Given the description of an element on the screen output the (x, y) to click on. 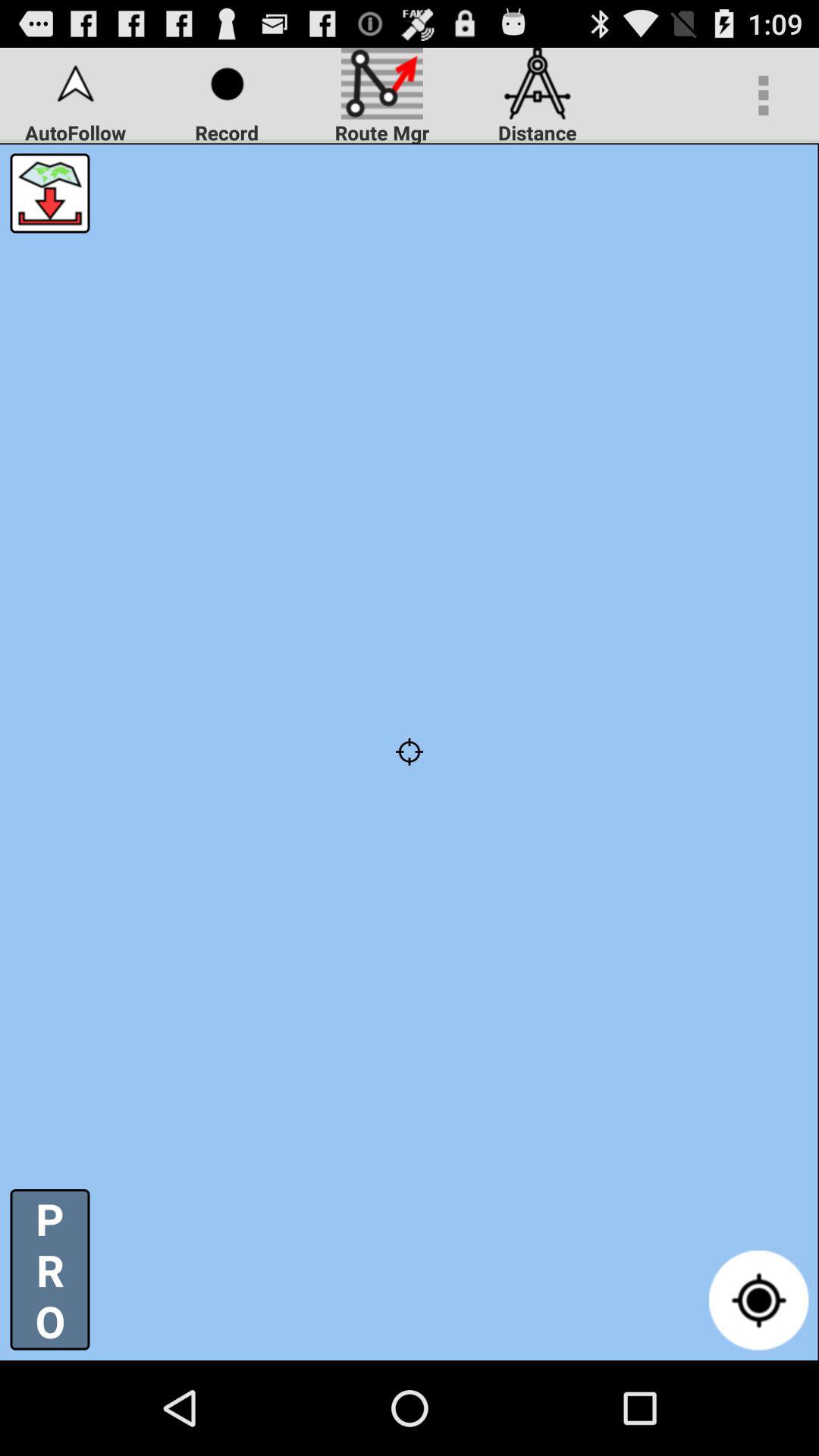
tap p
r
o item (49, 1269)
